Given the description of an element on the screen output the (x, y) to click on. 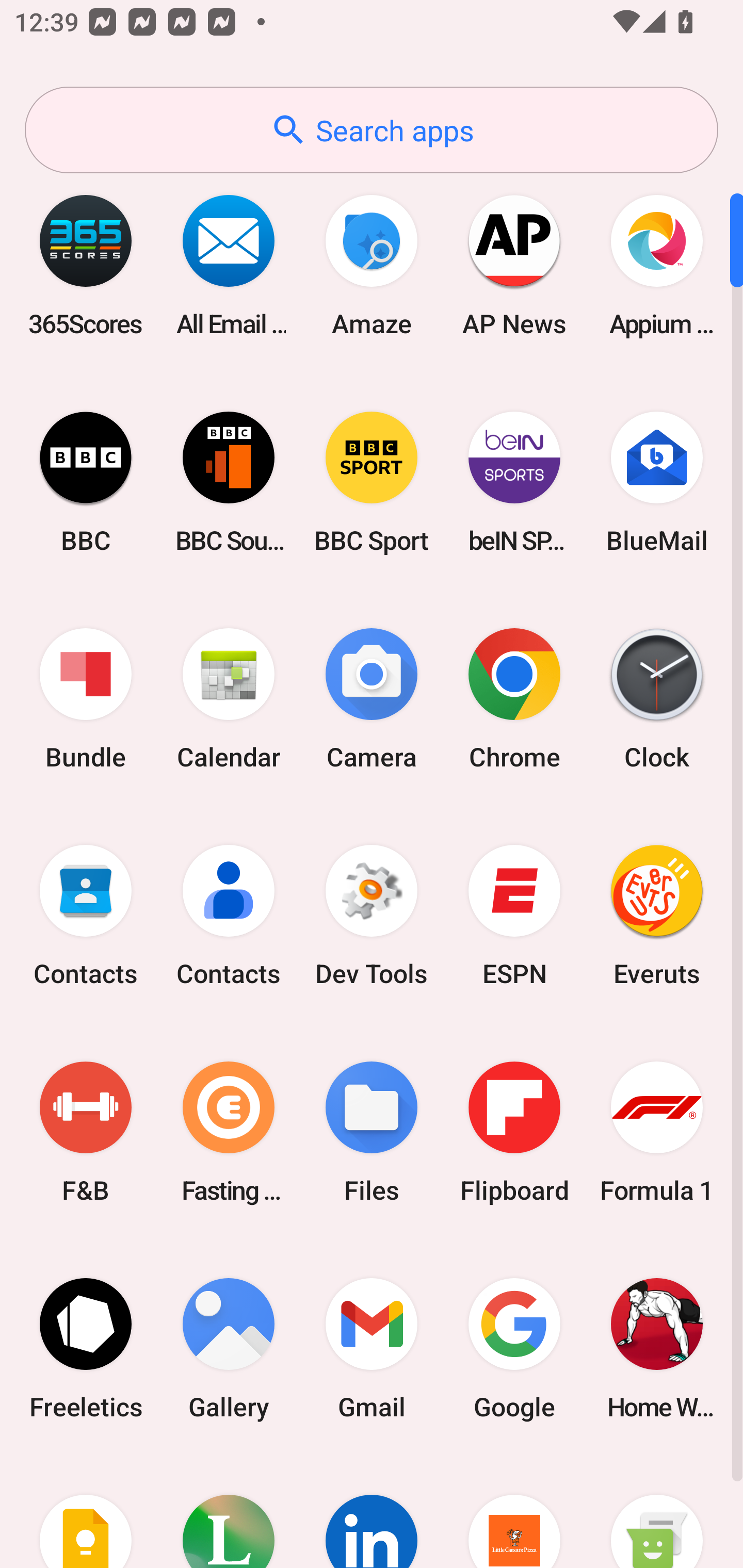
  Search apps (371, 130)
365Scores (85, 264)
All Email Connect (228, 264)
Amaze (371, 264)
AP News (514, 264)
Appium Settings (656, 264)
BBC (85, 482)
BBC Sounds (228, 482)
BBC Sport (371, 482)
beIN SPORTS (514, 482)
BlueMail (656, 482)
Bundle (85, 699)
Calendar (228, 699)
Camera (371, 699)
Chrome (514, 699)
Clock (656, 699)
Contacts (85, 915)
Contacts (228, 915)
Dev Tools (371, 915)
ESPN (514, 915)
Everuts (656, 915)
F&B (85, 1131)
Fasting Coach (228, 1131)
Files (371, 1131)
Flipboard (514, 1131)
Formula 1 (656, 1131)
Freeletics (85, 1348)
Gallery (228, 1348)
Gmail (371, 1348)
Google (514, 1348)
Home Workout (656, 1348)
Keep Notes (85, 1512)
Lifesum (228, 1512)
LinkedIn (371, 1512)
Little Caesars Pizza (514, 1512)
Messaging (656, 1512)
